Given the description of an element on the screen output the (x, y) to click on. 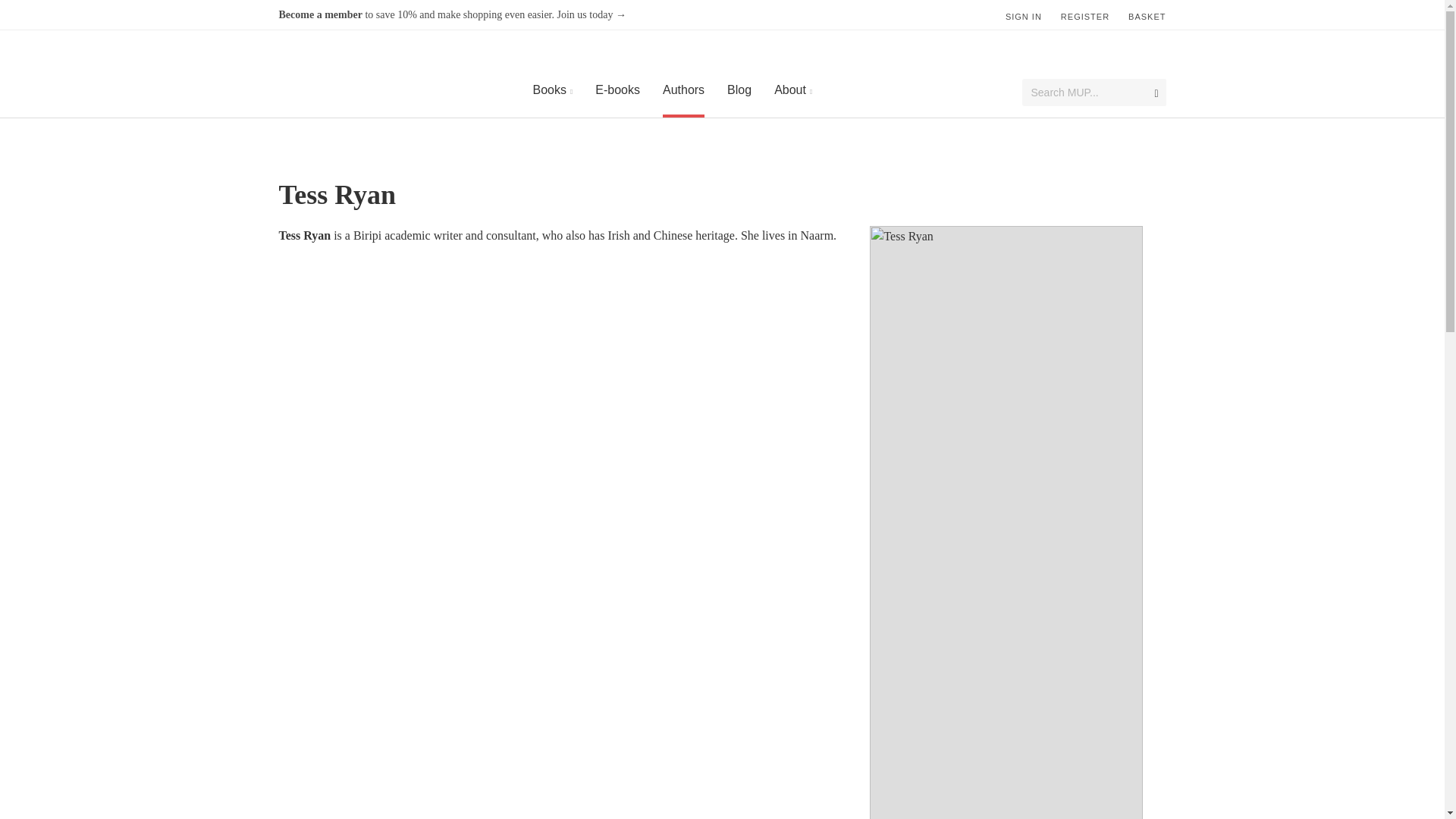
SIGN IN (1024, 12)
Books (549, 89)
MUP (341, 73)
REGISTER (1085, 12)
